Given the description of an element on the screen output the (x, y) to click on. 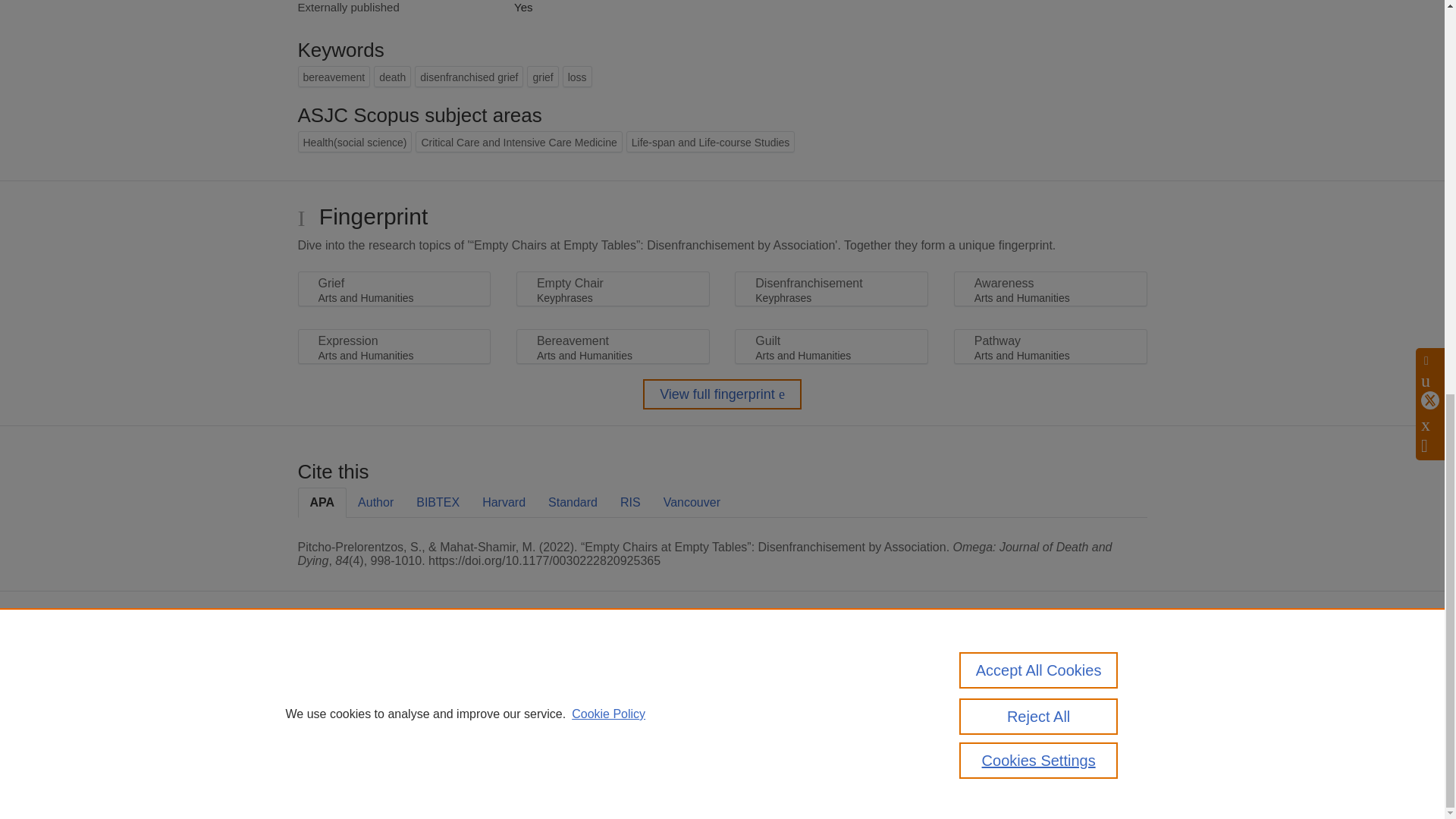
View full fingerprint (722, 394)
Scopus (394, 666)
Pure (362, 666)
